Given the description of an element on the screen output the (x, y) to click on. 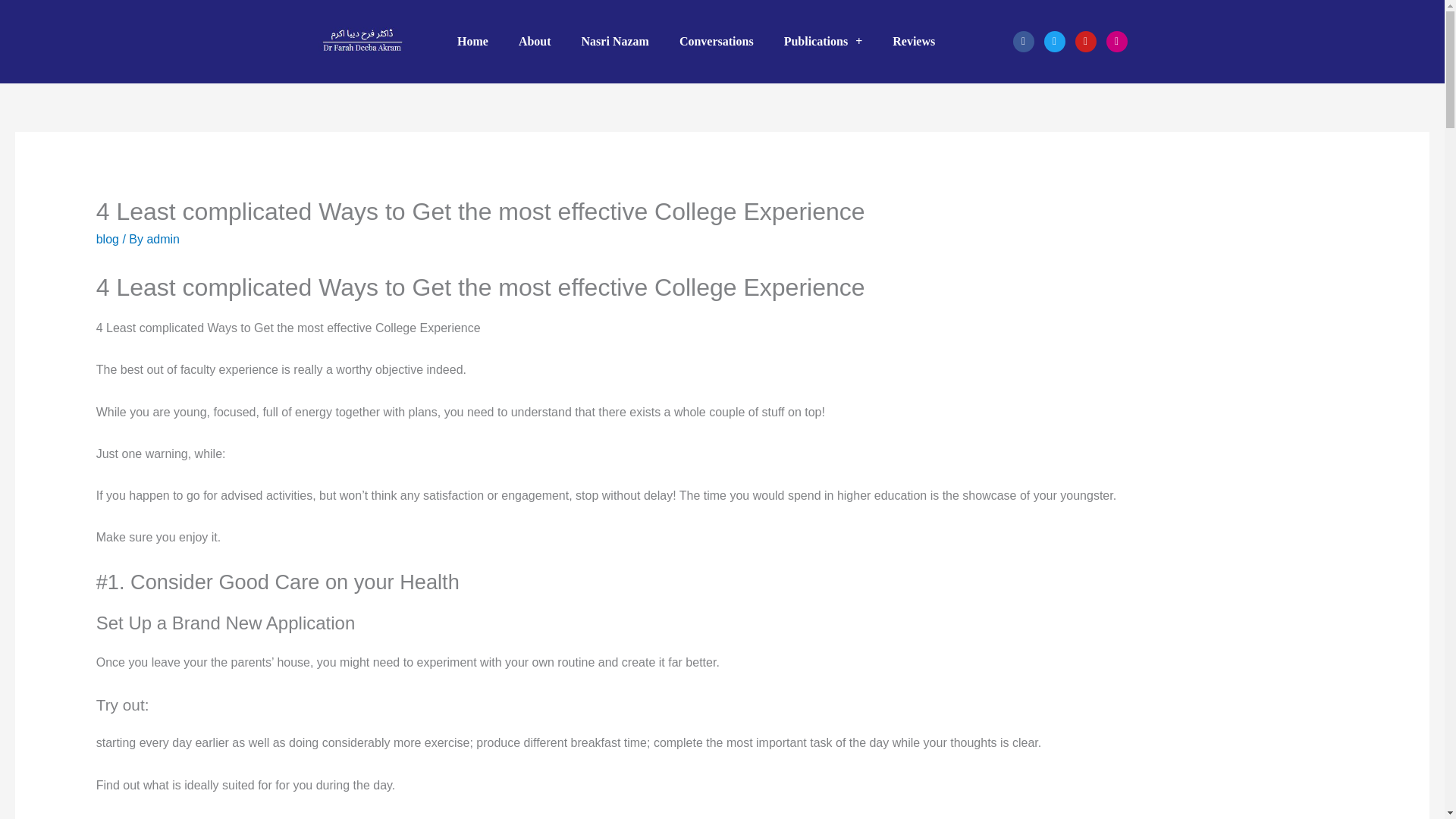
blog (107, 238)
View all posts by admin (163, 238)
Publications (822, 41)
Nasri Nazam (614, 41)
Conversations (715, 41)
Home (472, 41)
admin (163, 238)
About (534, 41)
Reviews (913, 41)
